Given the description of an element on the screen output the (x, y) to click on. 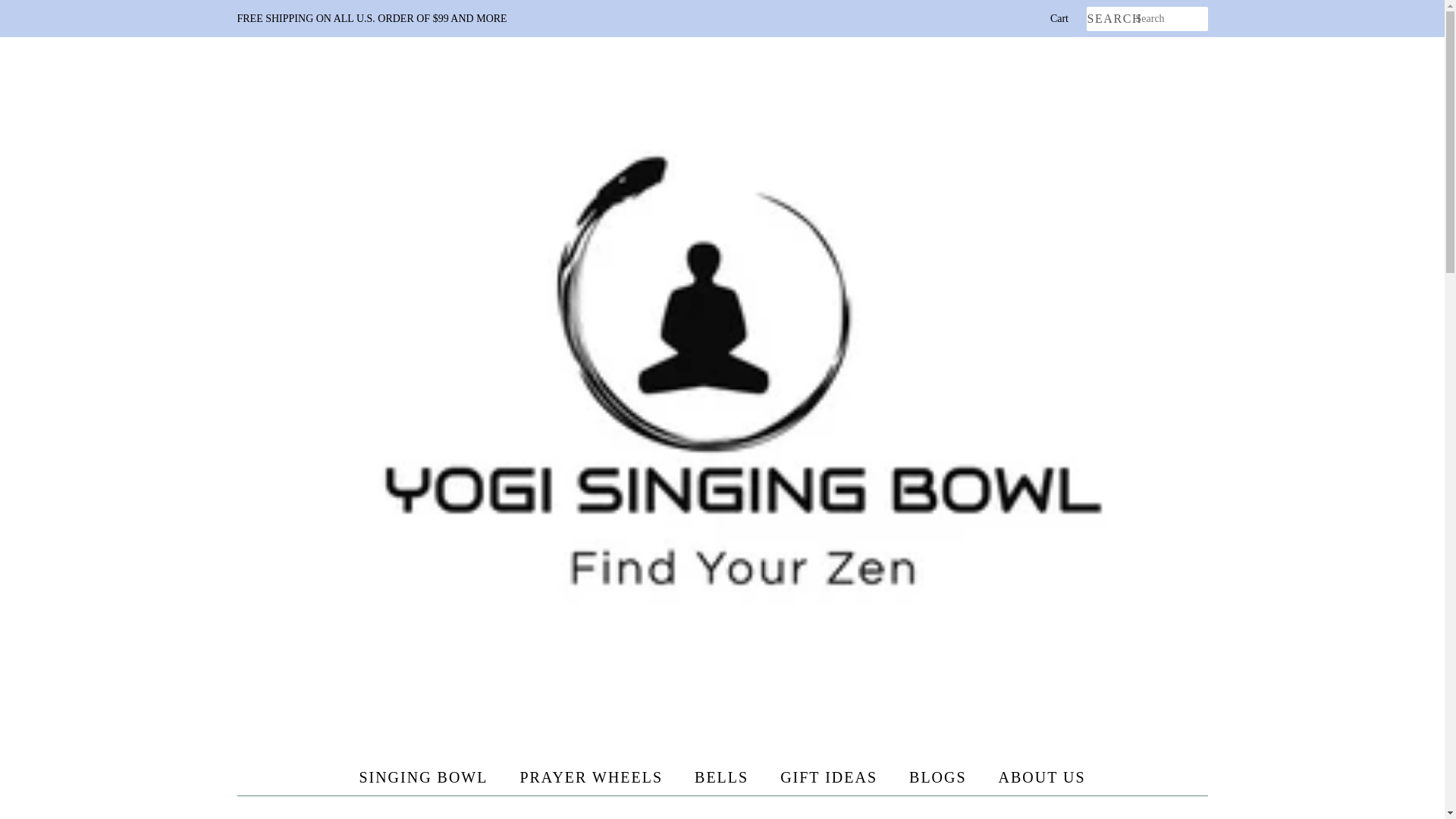
Cart (1058, 18)
SEARCH (1110, 18)
